Given the description of an element on the screen output the (x, y) to click on. 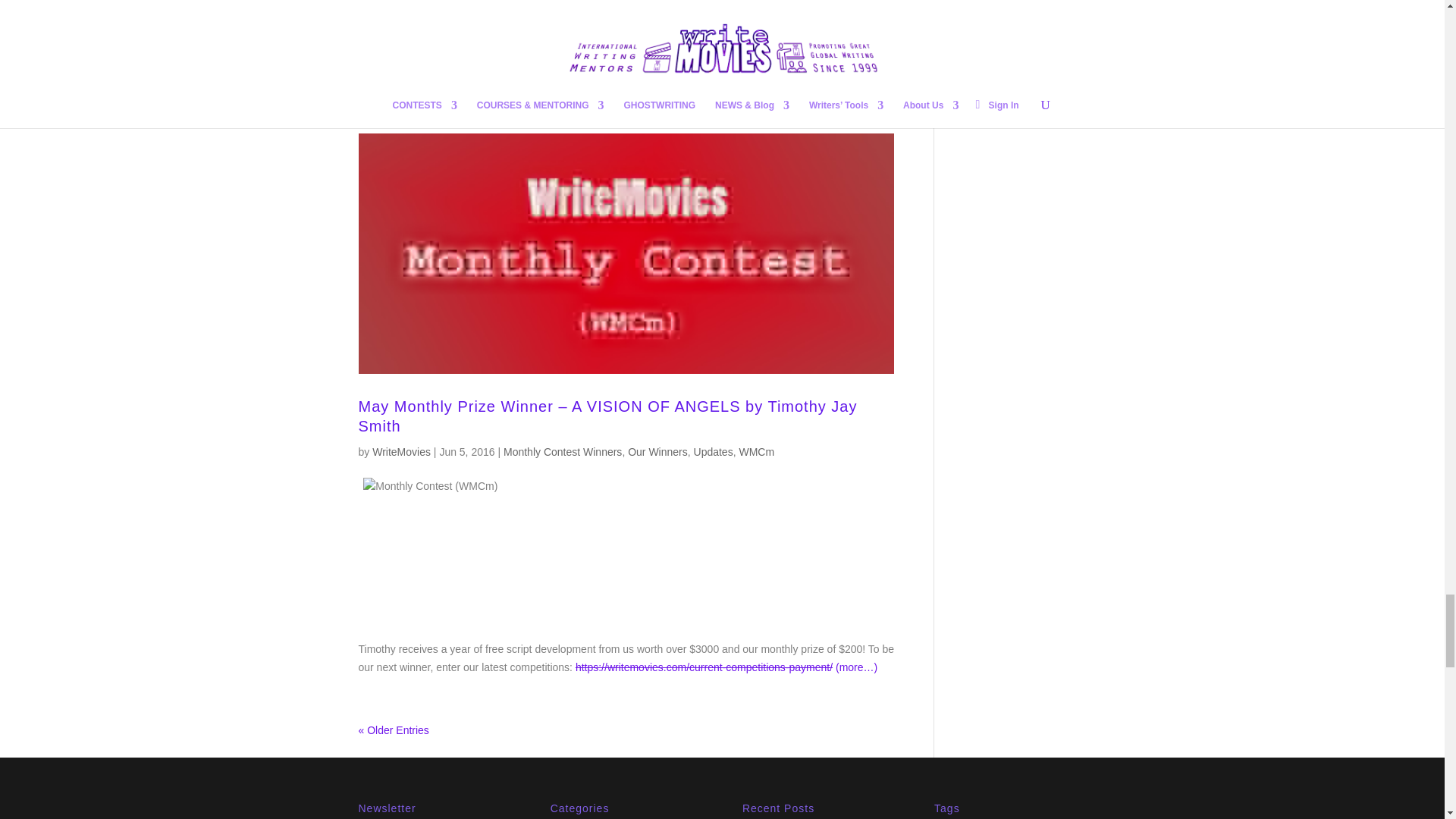
Posts by WriteMovies (401, 451)
